Given the description of an element on the screen output the (x, y) to click on. 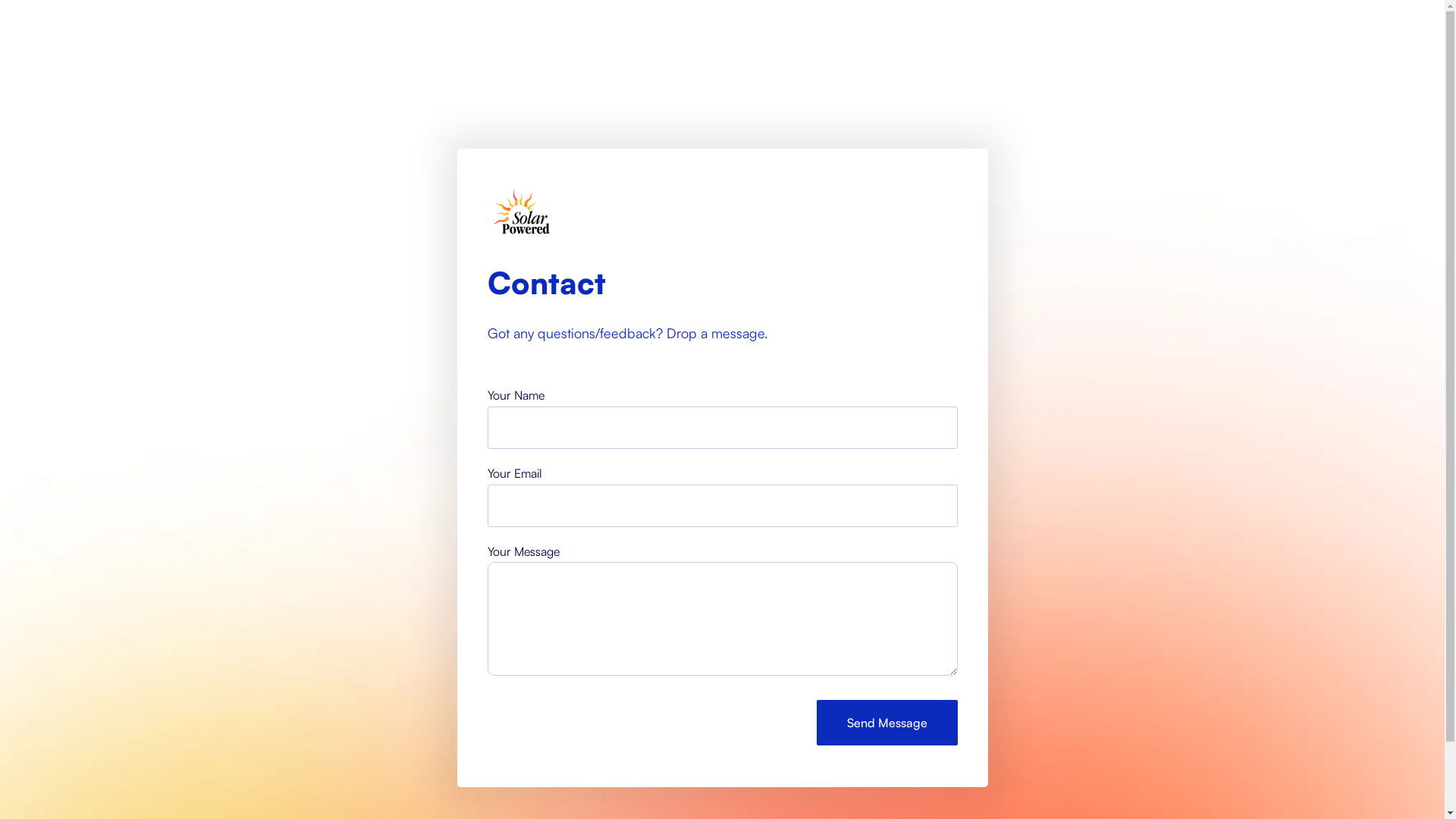
Send Message Element type: text (886, 722)
